Given the description of an element on the screen output the (x, y) to click on. 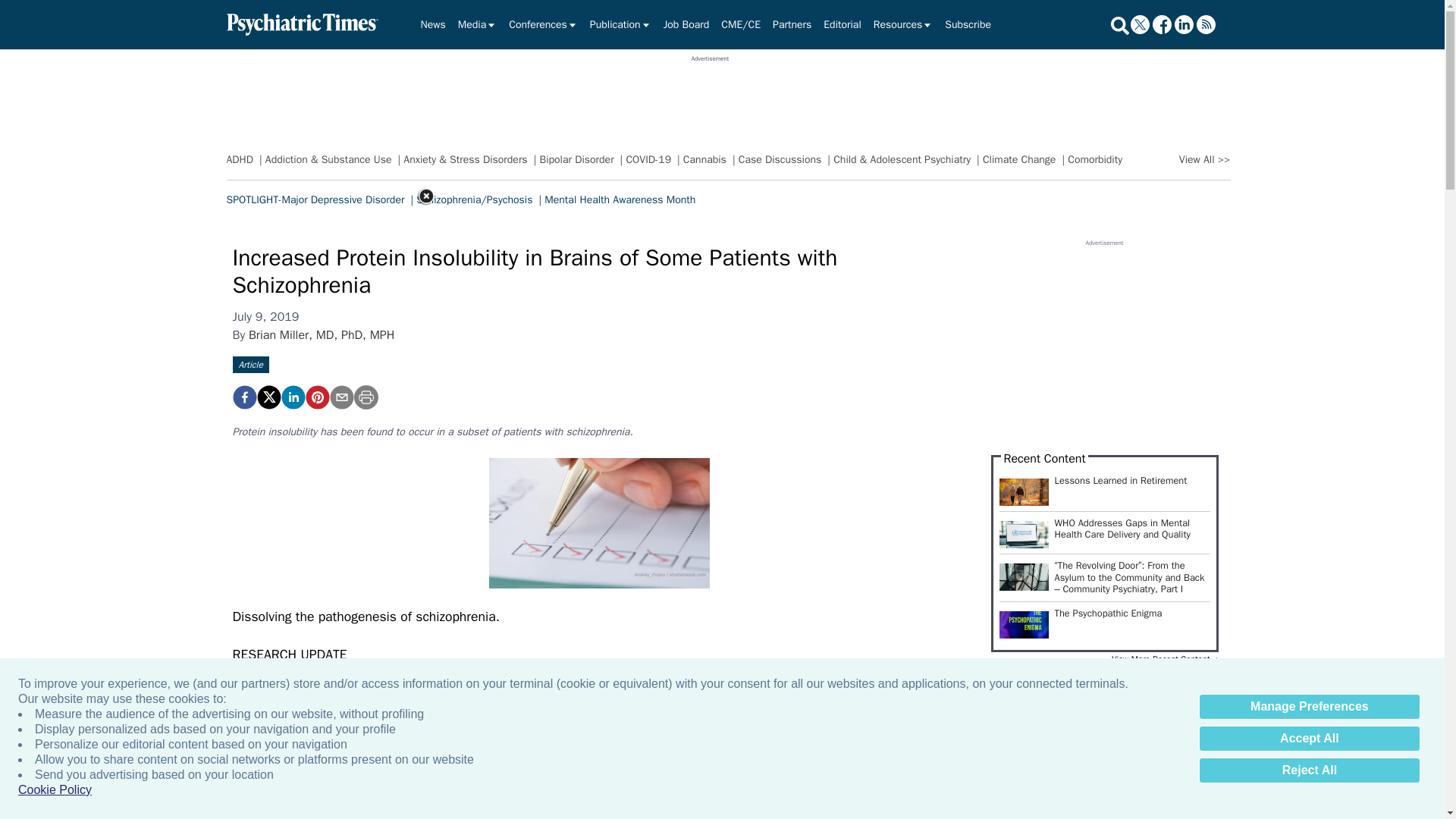
Reject All (1309, 769)
Cookie Policy (54, 789)
3rd party ad content (709, 97)
Manage Preferences (1309, 706)
Editorial (842, 23)
Job Board (686, 23)
Partners (791, 23)
Subscribe (967, 23)
Accept All (1309, 738)
News (432, 23)
